Given the description of an element on the screen output the (x, y) to click on. 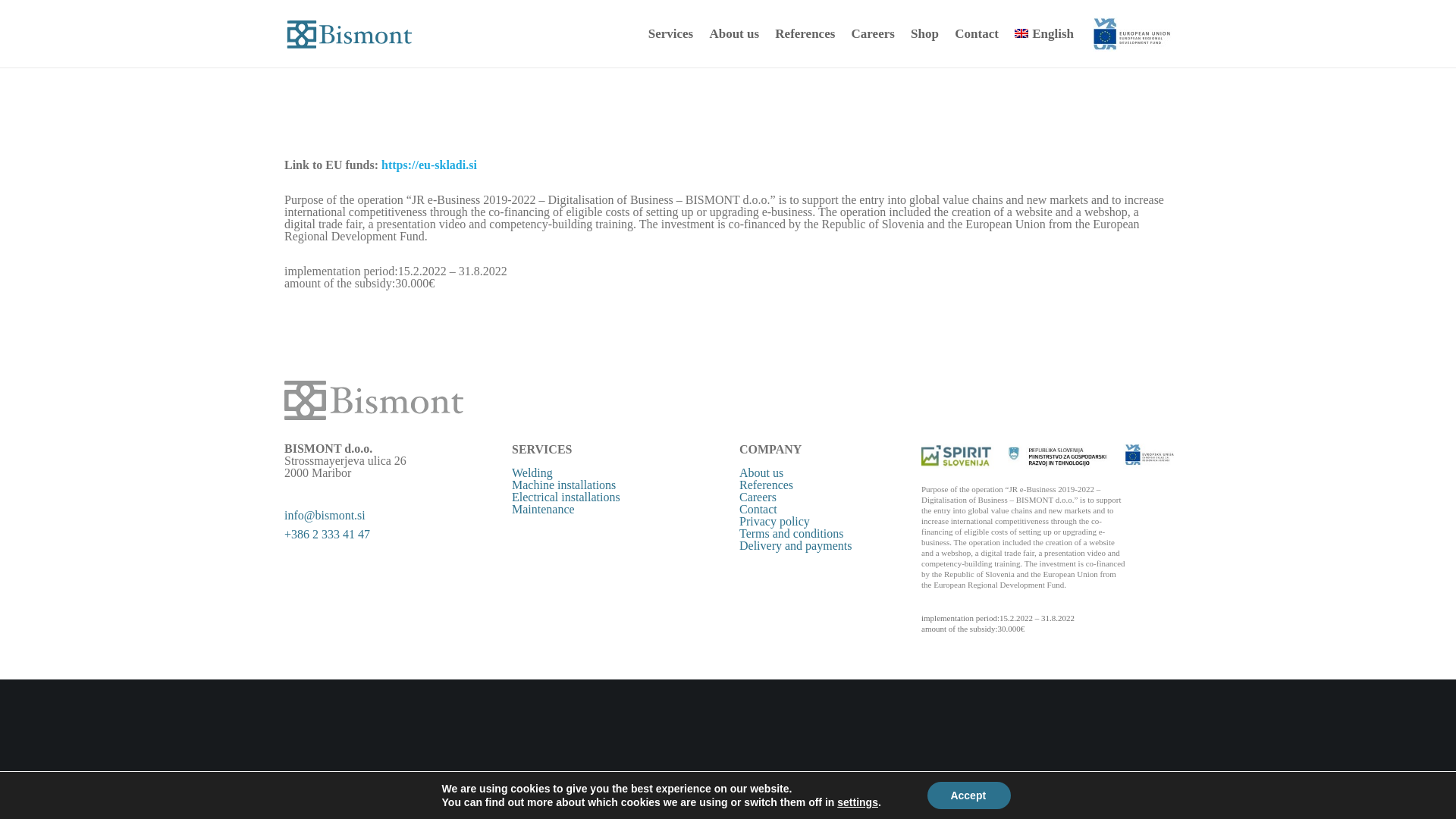
Delivery and payments (795, 545)
English (1042, 33)
English (1042, 33)
Contact (758, 508)
Privacy policy (774, 521)
Machine installations (563, 484)
References (766, 484)
Maintenance (543, 508)
Careers (757, 496)
References (805, 33)
